Given the description of an element on the screen output the (x, y) to click on. 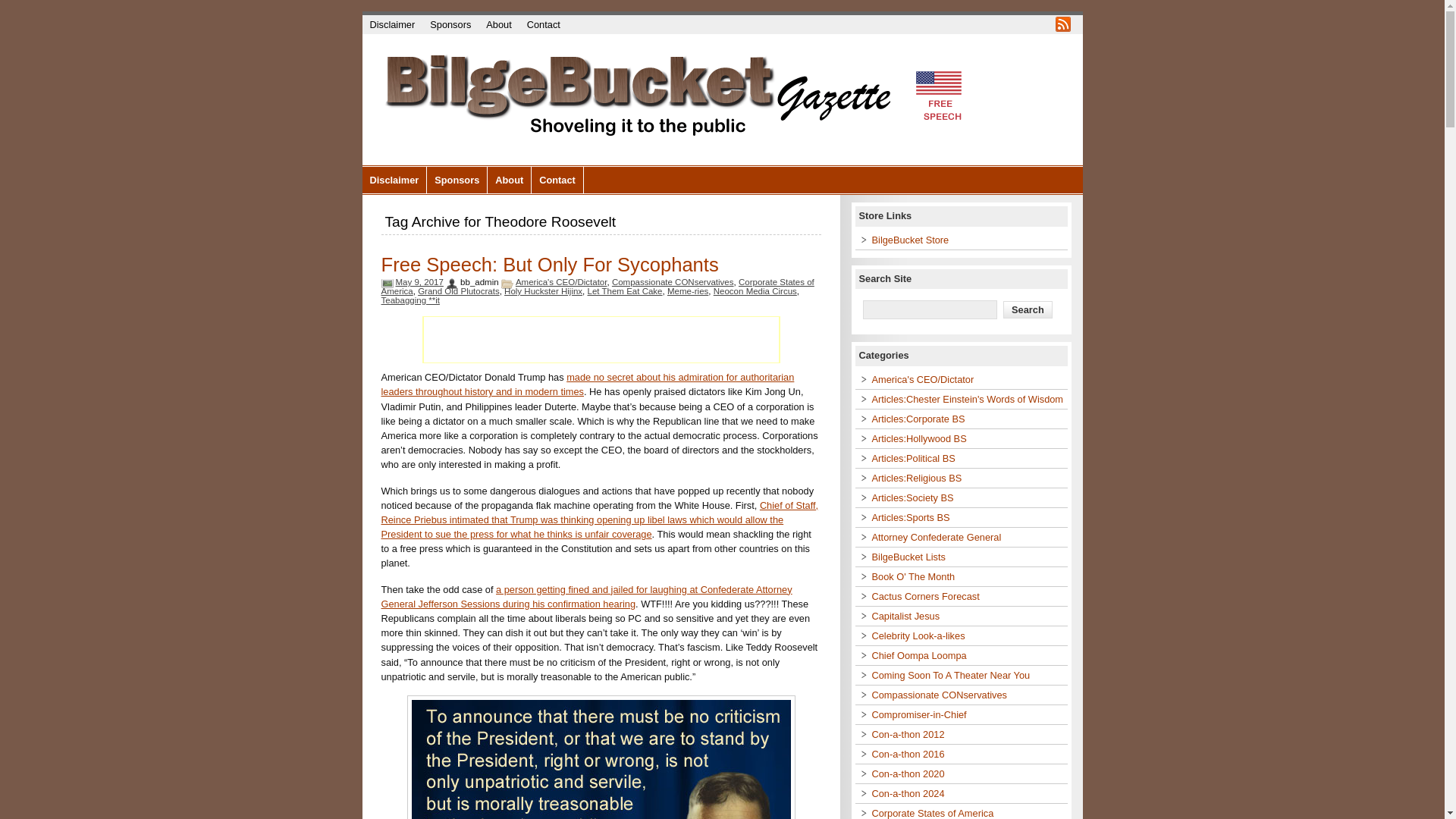
Let Them Eat Cake (625, 290)
About (498, 24)
Contact (557, 180)
About (509, 180)
Buy BilgeBucket Schtuff (910, 239)
Contact (543, 24)
Holy Huckster Hijinx (542, 290)
Neocon Media Circus (754, 290)
Sponsors (456, 180)
Disclaimer (395, 180)
Free Speech: But Only For Sycophants (548, 264)
Search (1027, 309)
Corporate States of America (596, 286)
Advertisement (600, 339)
